Given the description of an element on the screen output the (x, y) to click on. 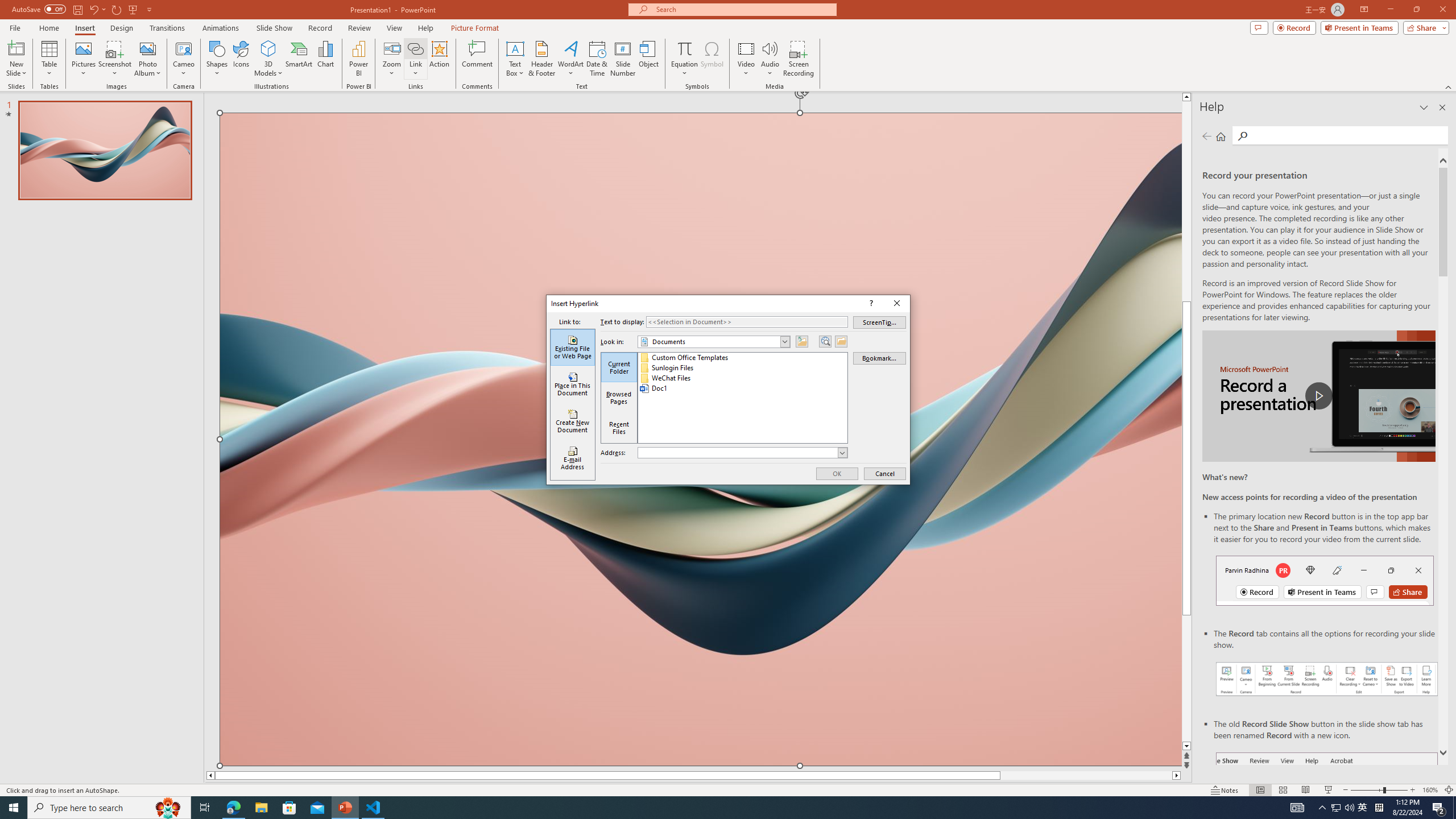
Table (49, 58)
Object... (649, 58)
Record button in top bar (1324, 580)
Video (745, 58)
Icons (240, 58)
